Given the description of an element on the screen output the (x, y) to click on. 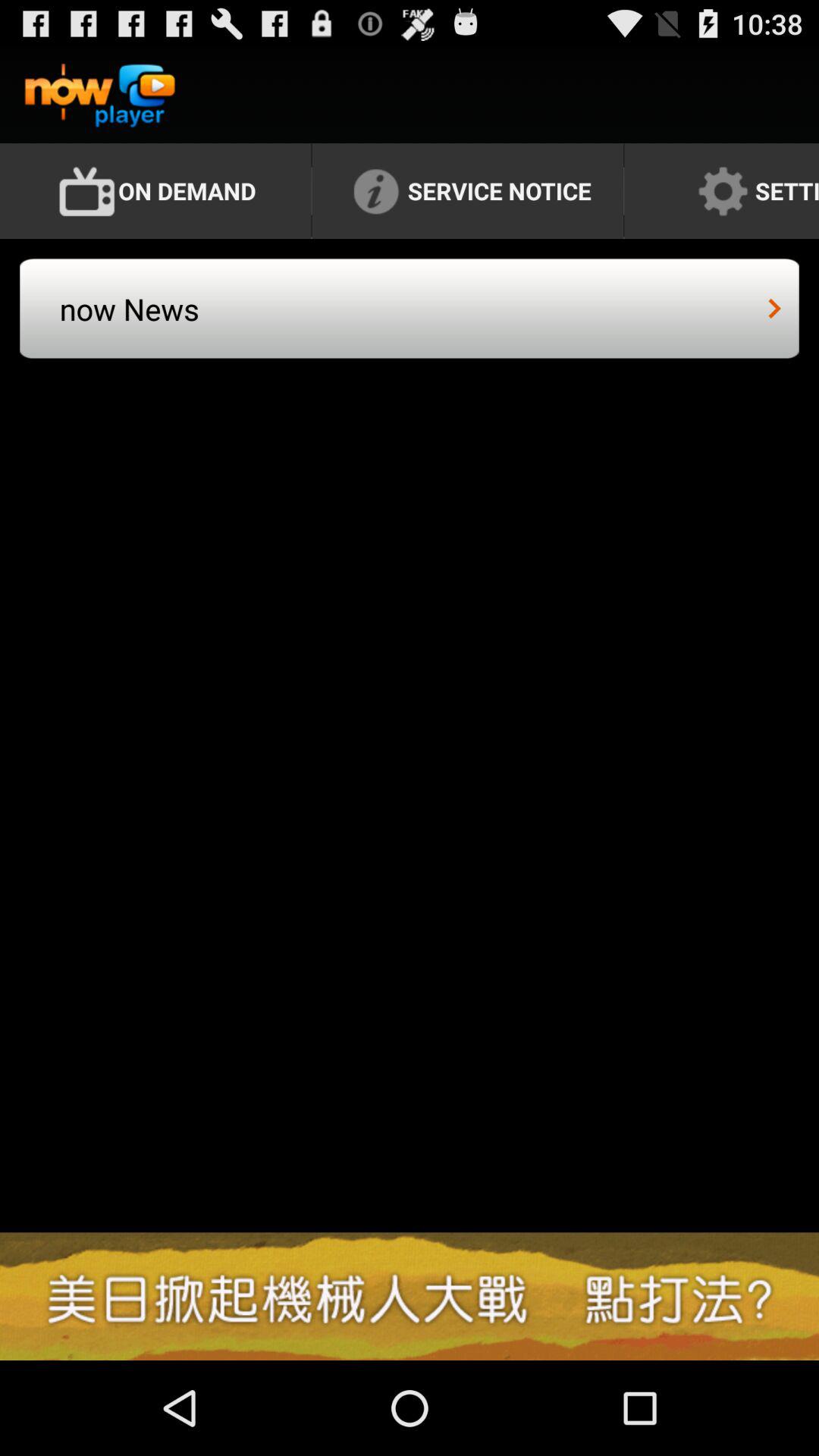
tap the app below now news app (409, 1296)
